Given the description of an element on the screen output the (x, y) to click on. 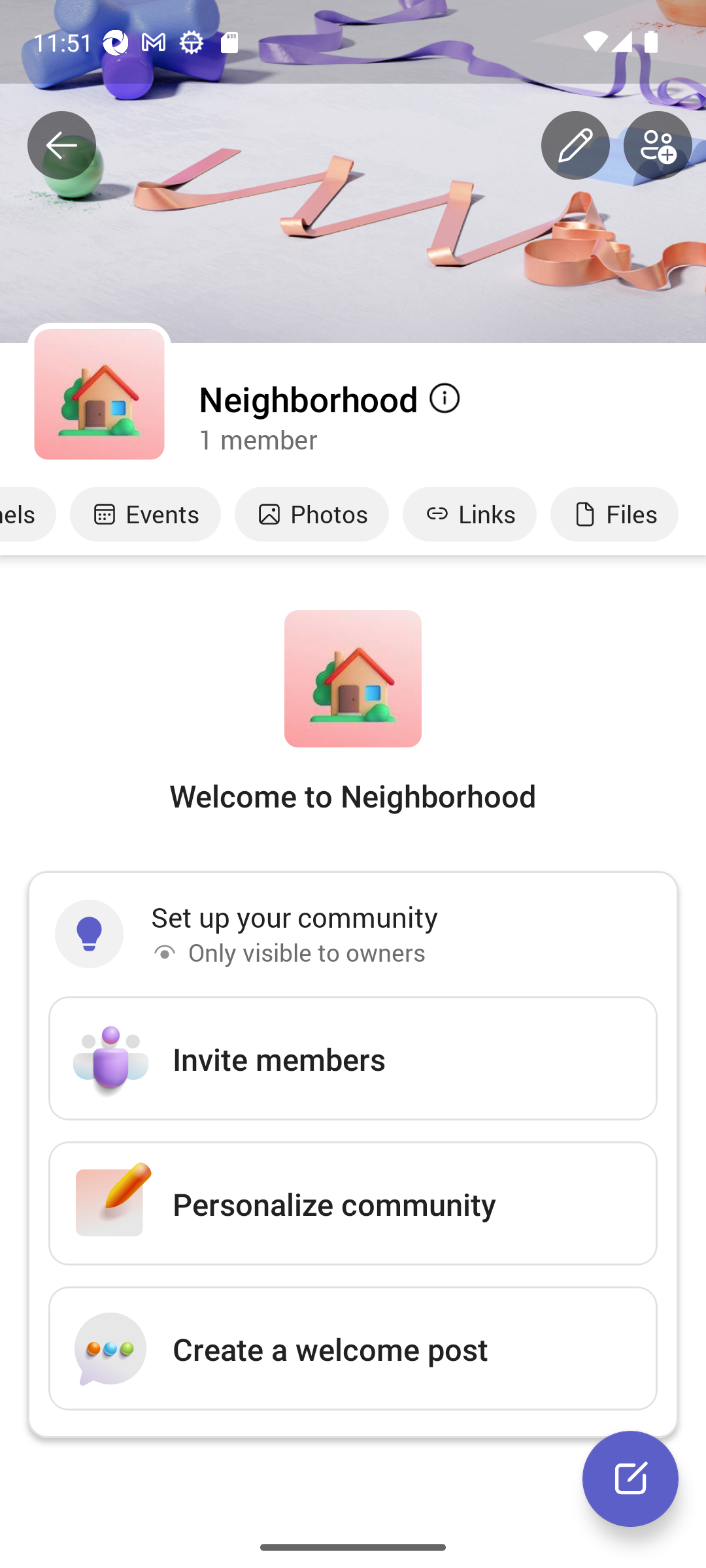
Back (61, 145)
Edit banner image (575, 145)
Add members (657, 145)
Neighborhood 1 member (450, 416)
Events tab, 3 of 6 Events (144, 513)
Photos tab, 4 of 6 Photos (311, 513)
Links tab, 5 of 6 Links (469, 513)
Files tab, 6 of 6 Files (614, 513)
Invite members (352, 1058)
Personalize community (352, 1203)
Create a welcome post (352, 1348)
New conversation (630, 1478)
